Given the description of an element on the screen output the (x, y) to click on. 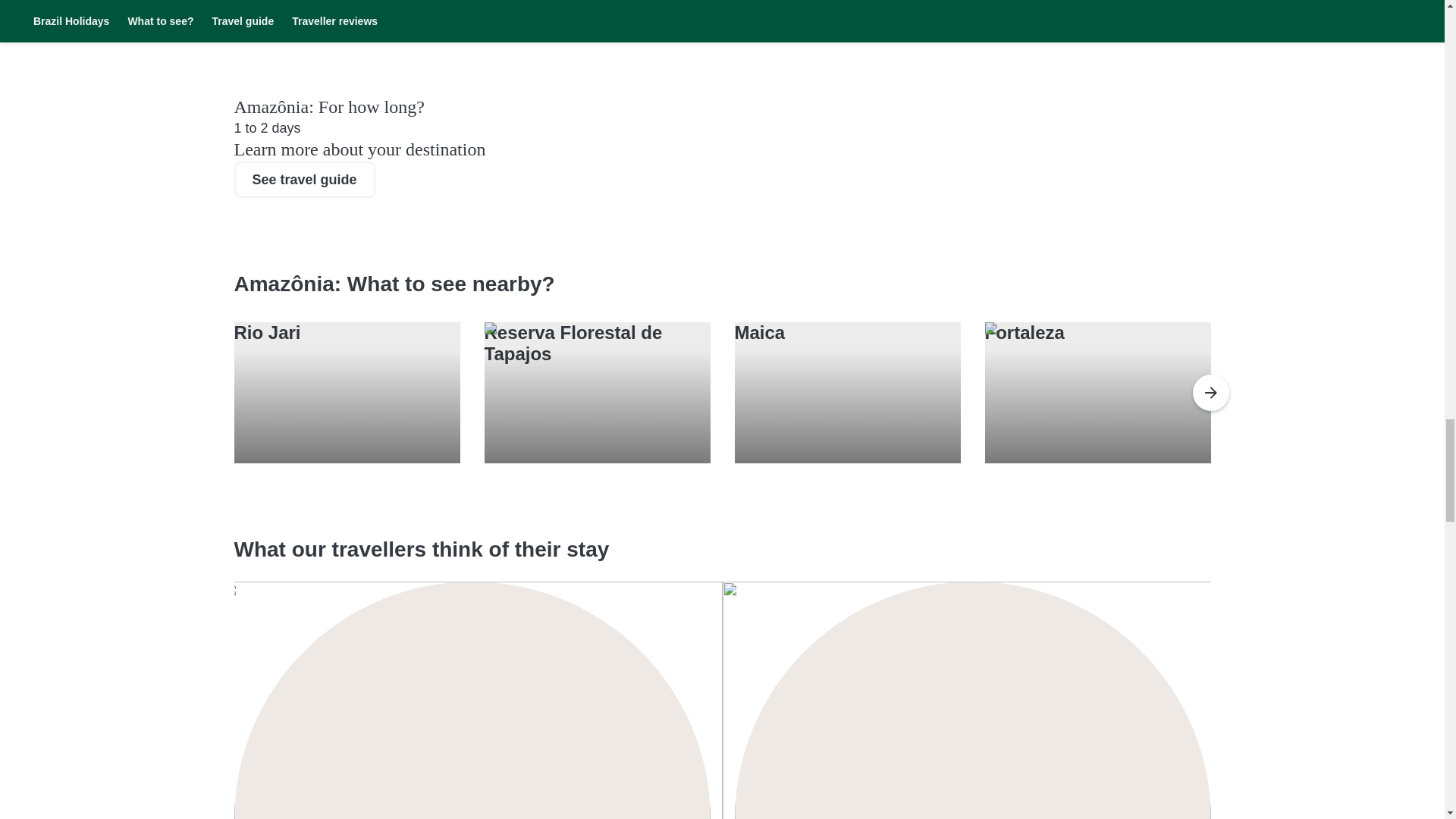
Rio Jari (265, 332)
Fortaleza (1024, 332)
Reserva Florestal de Tapajos (572, 342)
Maica (758, 332)
See travel guide (303, 179)
